Given the description of an element on the screen output the (x, y) to click on. 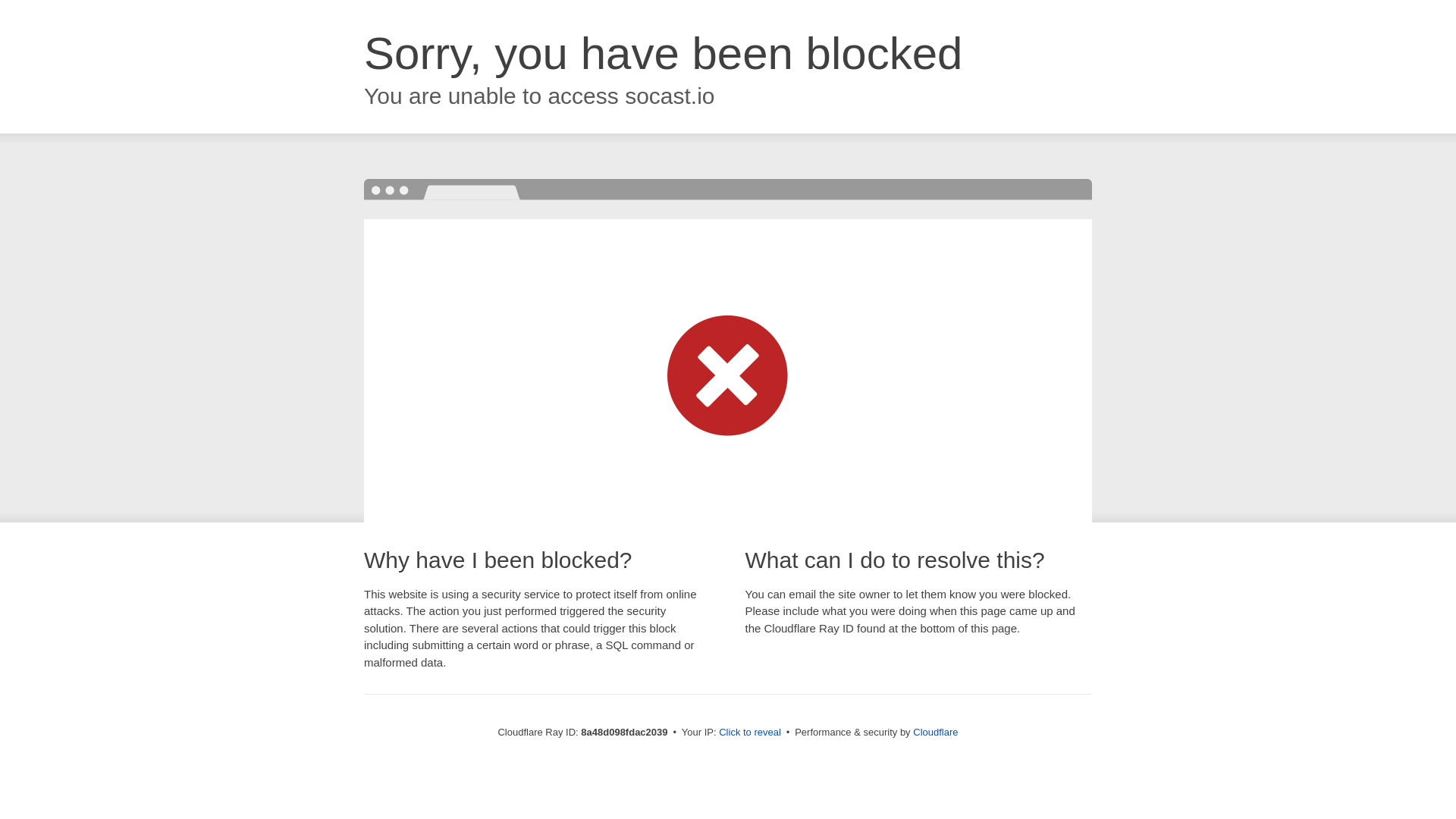
Click to reveal (749, 732)
Cloudflare (935, 731)
